Given the description of an element on the screen output the (x, y) to click on. 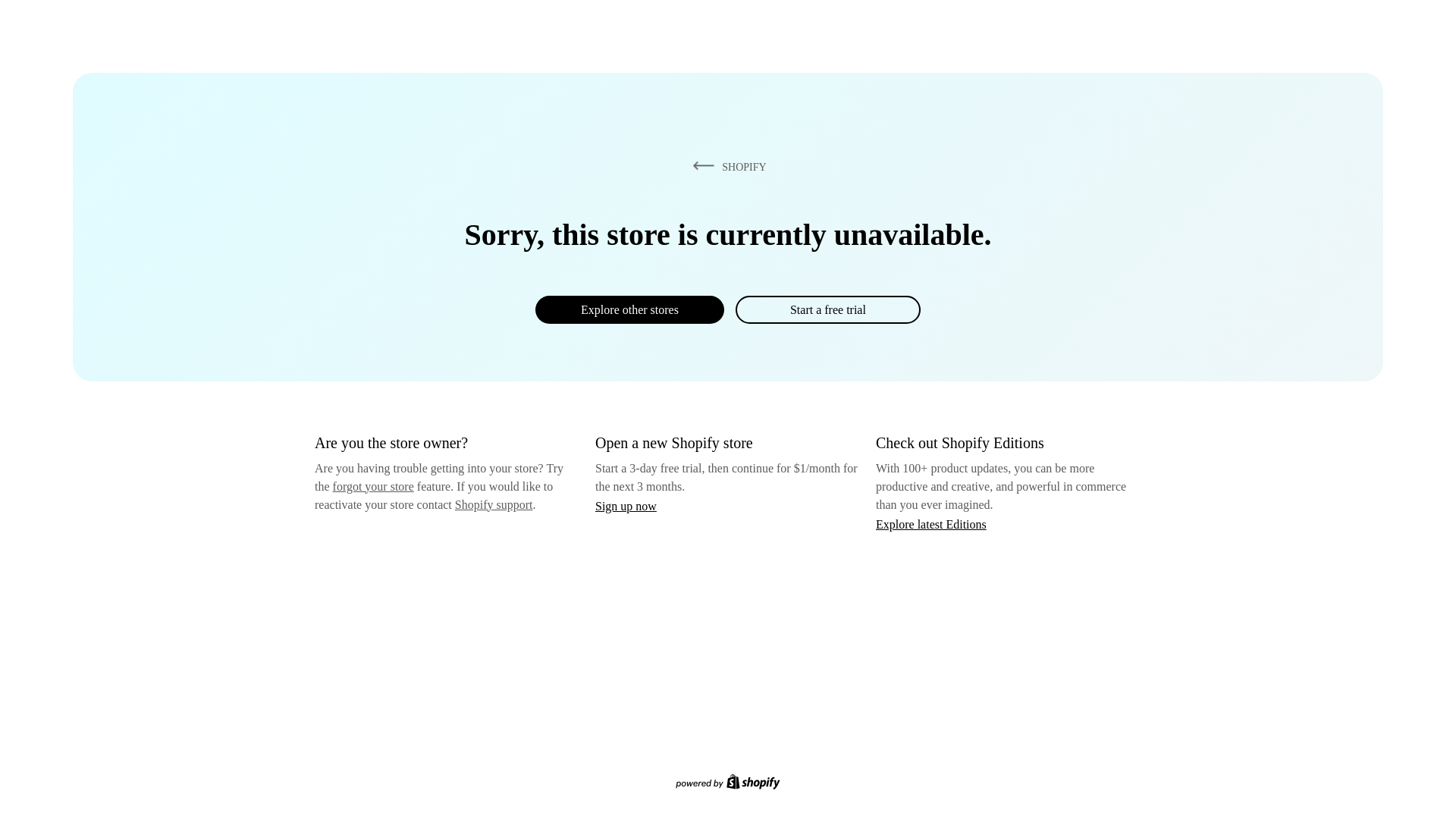
forgot your store (373, 486)
Explore latest Editions (931, 523)
Start a free trial (827, 309)
SHOPIFY (726, 166)
Shopify support (493, 504)
Sign up now (625, 505)
Explore other stores (629, 309)
